Given the description of an element on the screen output the (x, y) to click on. 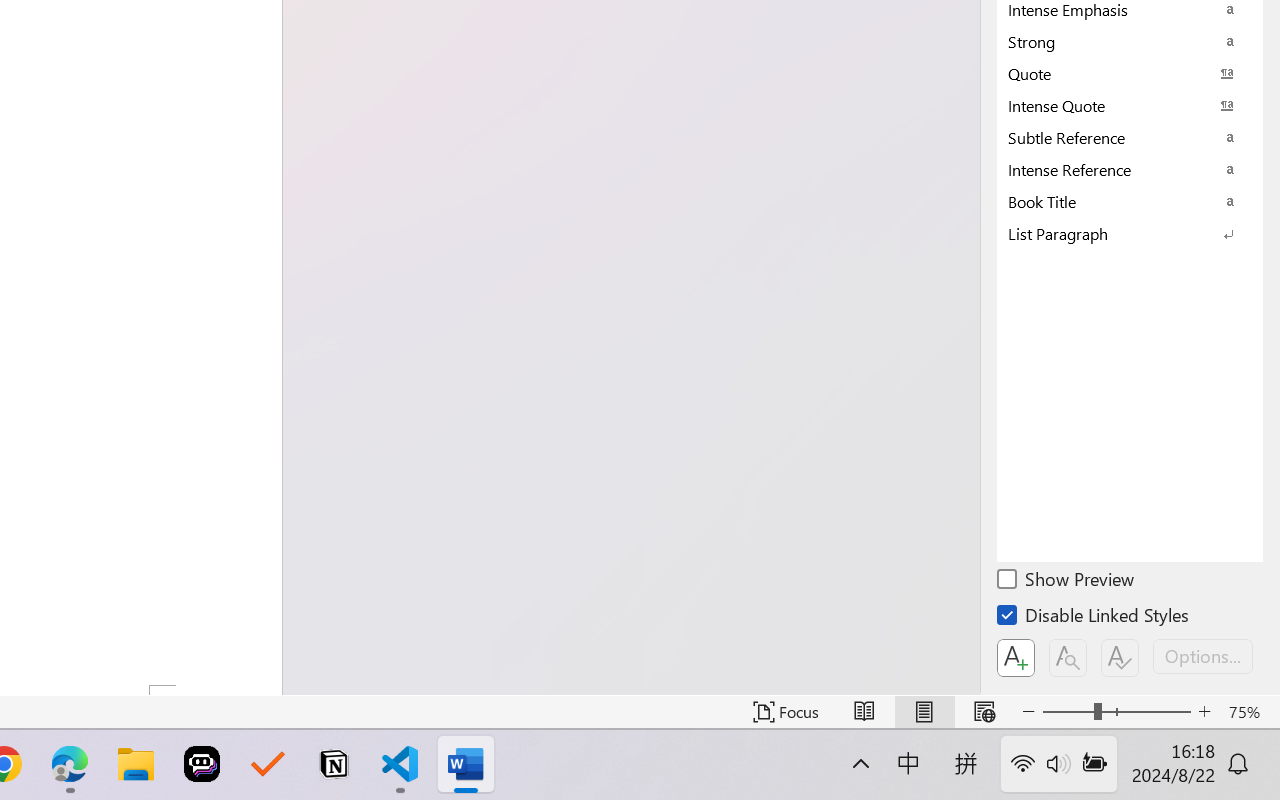
Zoom 346% (1234, 743)
